Given the description of an element on the screen output the (x, y) to click on. 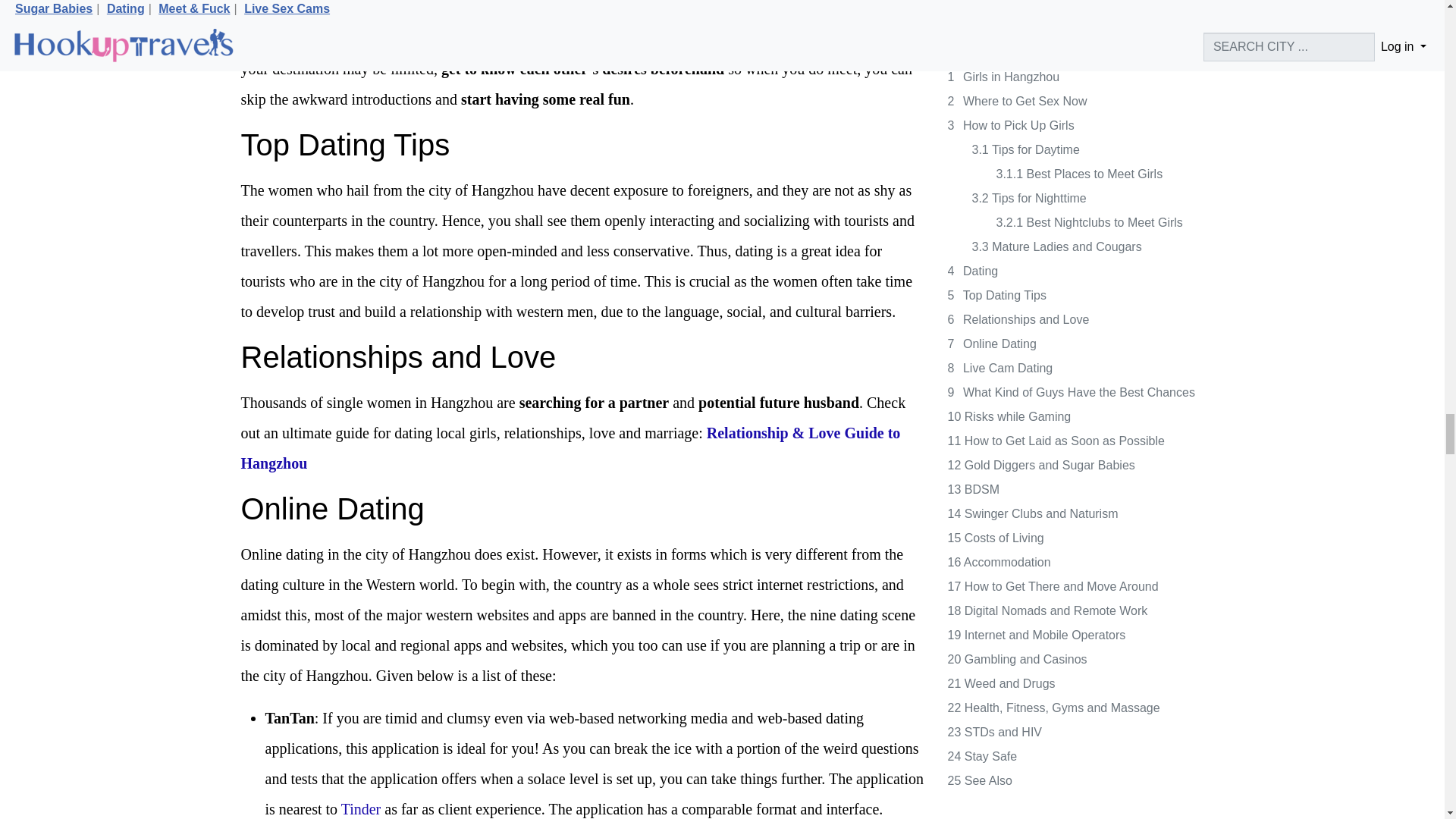
Tinder (360, 808)
